Given the description of an element on the screen output the (x, y) to click on. 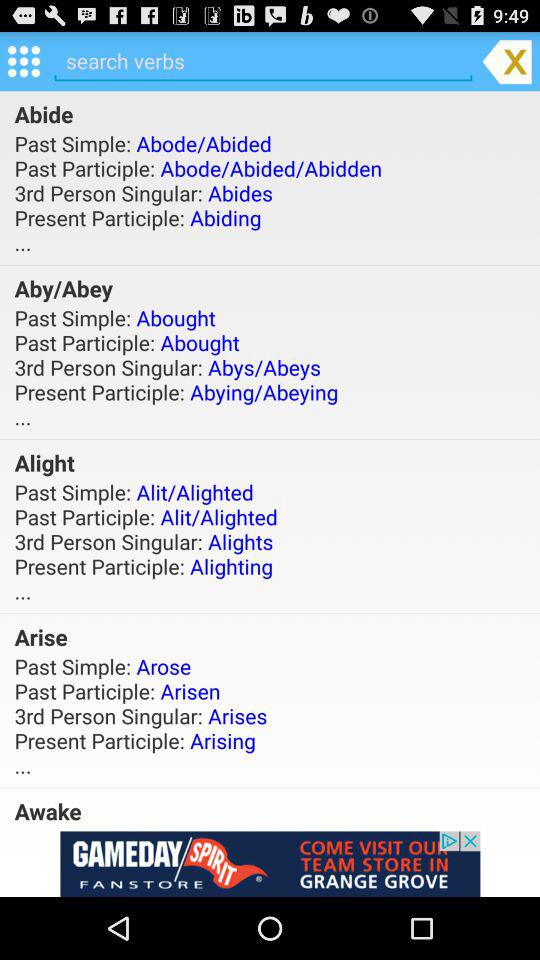
open menu (23, 60)
